Given the description of an element on the screen output the (x, y) to click on. 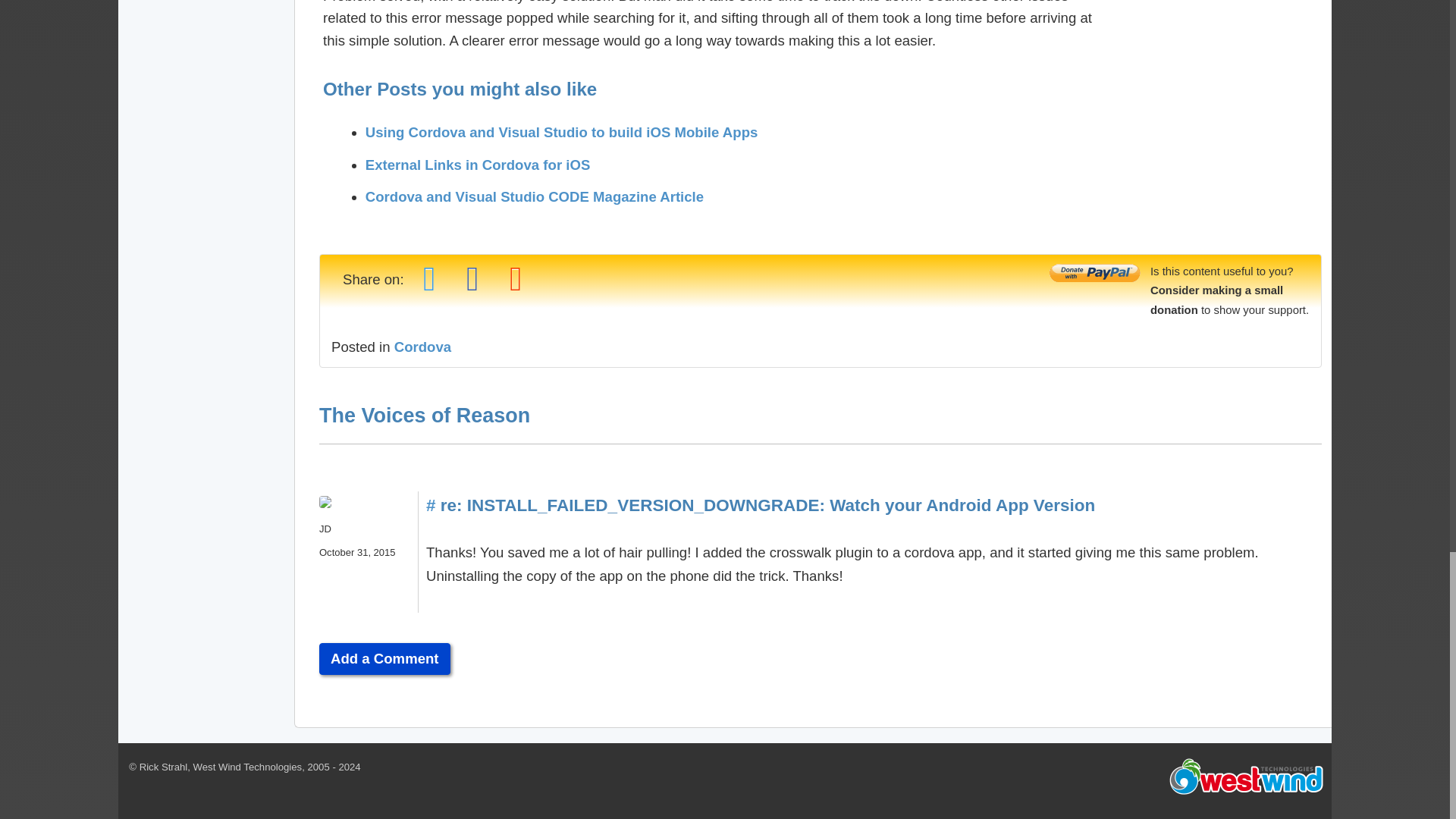
Cordova and Visual Studio CODE Magazine Article (534, 196)
Add a Comment (383, 658)
External Links in Cordova for iOS (478, 164)
Cordova (422, 346)
Using Cordova and Visual Studio to build iOS Mobile Apps (561, 132)
Add a Comment (383, 658)
